Given the description of an element on the screen output the (x, y) to click on. 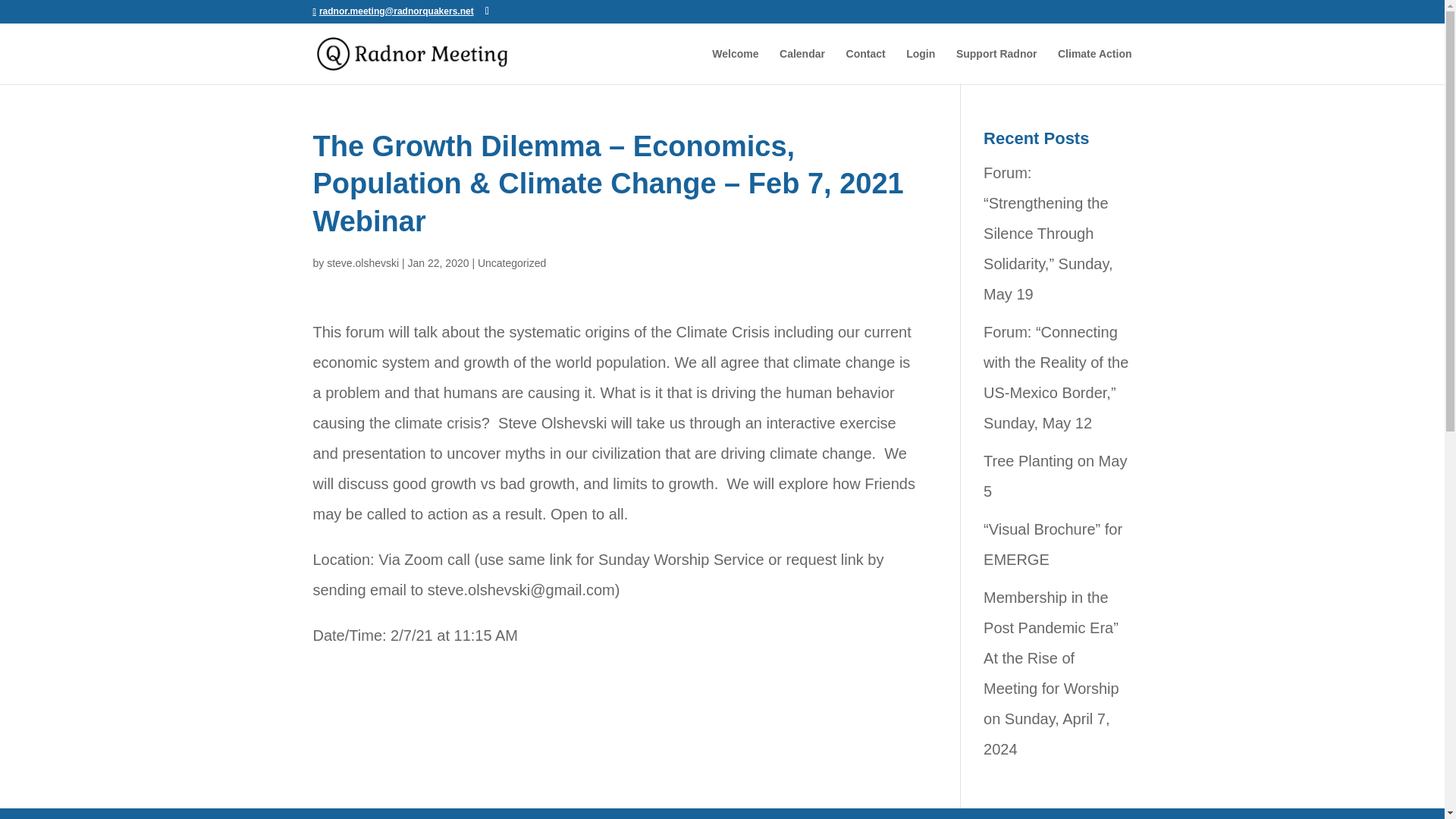
Contact (865, 66)
steve.olshevski (362, 263)
Posts by steve.olshevski (362, 263)
Support Radnor (996, 66)
Tree Planting on May 5 (1055, 475)
Calendar (801, 66)
Climate Action (1095, 66)
Welcome (734, 66)
Uncategorized (511, 263)
